Given the description of an element on the screen output the (x, y) to click on. 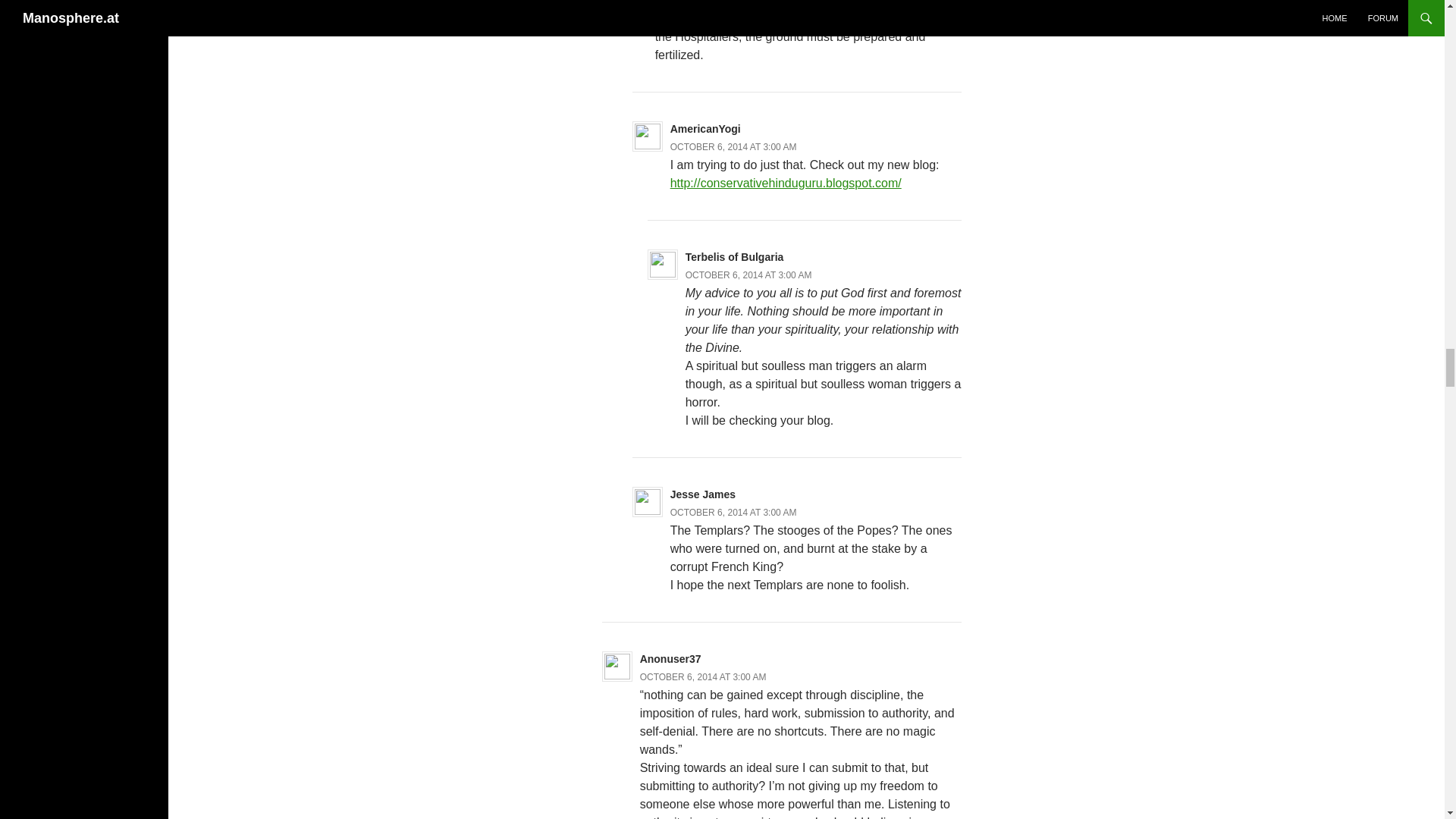
OCTOBER 6, 2014 AT 3:00 AM (748, 275)
OCTOBER 6, 2014 AT 3:00 AM (703, 676)
OCTOBER 6, 2014 AT 3:00 AM (732, 146)
OCTOBER 6, 2014 AT 3:00 AM (732, 511)
